Given the description of an element on the screen output the (x, y) to click on. 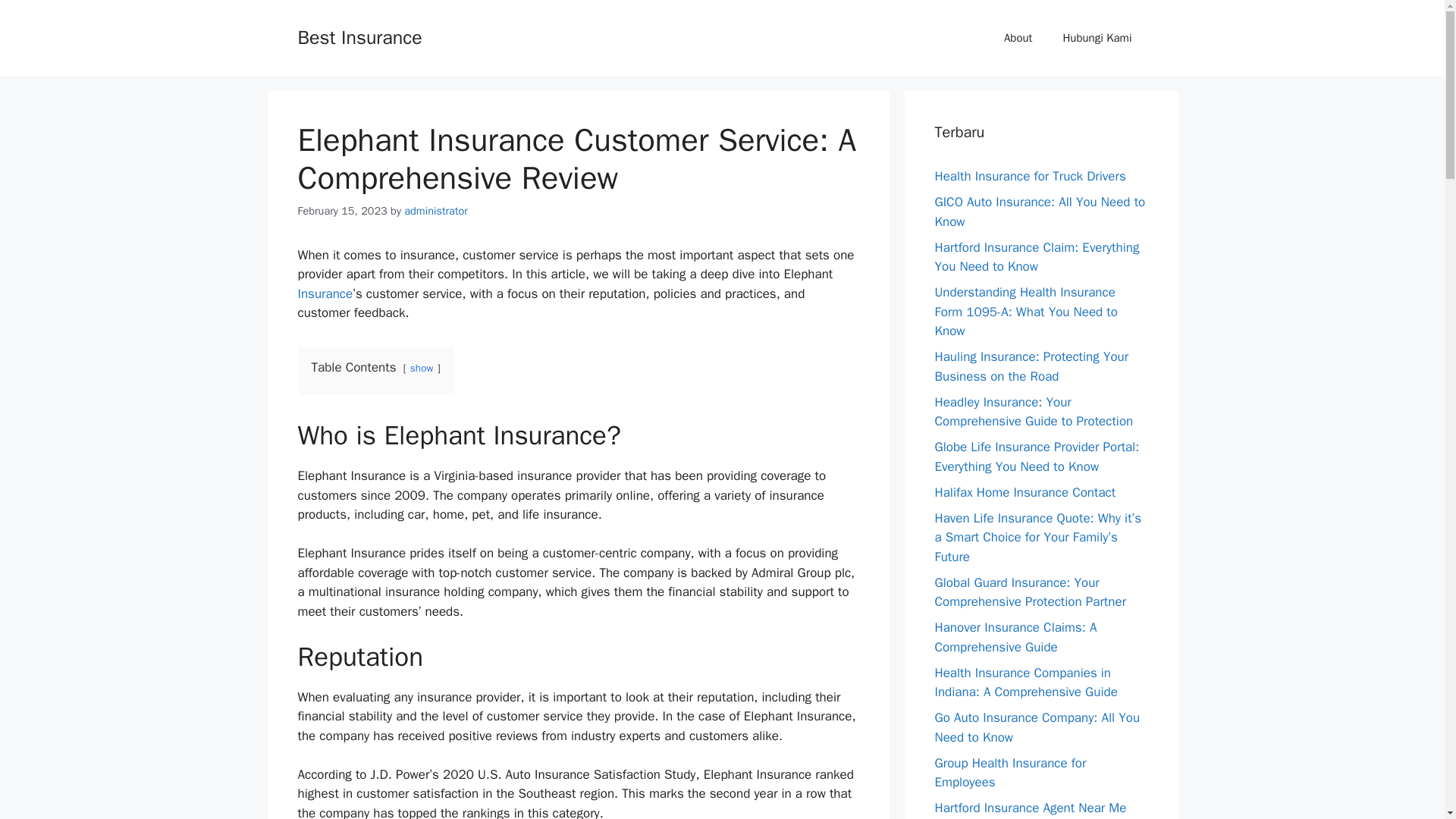
Hubungi Kami (1096, 37)
View all posts by administrator (435, 210)
About (1017, 37)
Insurance (324, 293)
show (421, 367)
Best Insurance (359, 37)
Insurance (324, 293)
administrator (435, 210)
